Given the description of an element on the screen output the (x, y) to click on. 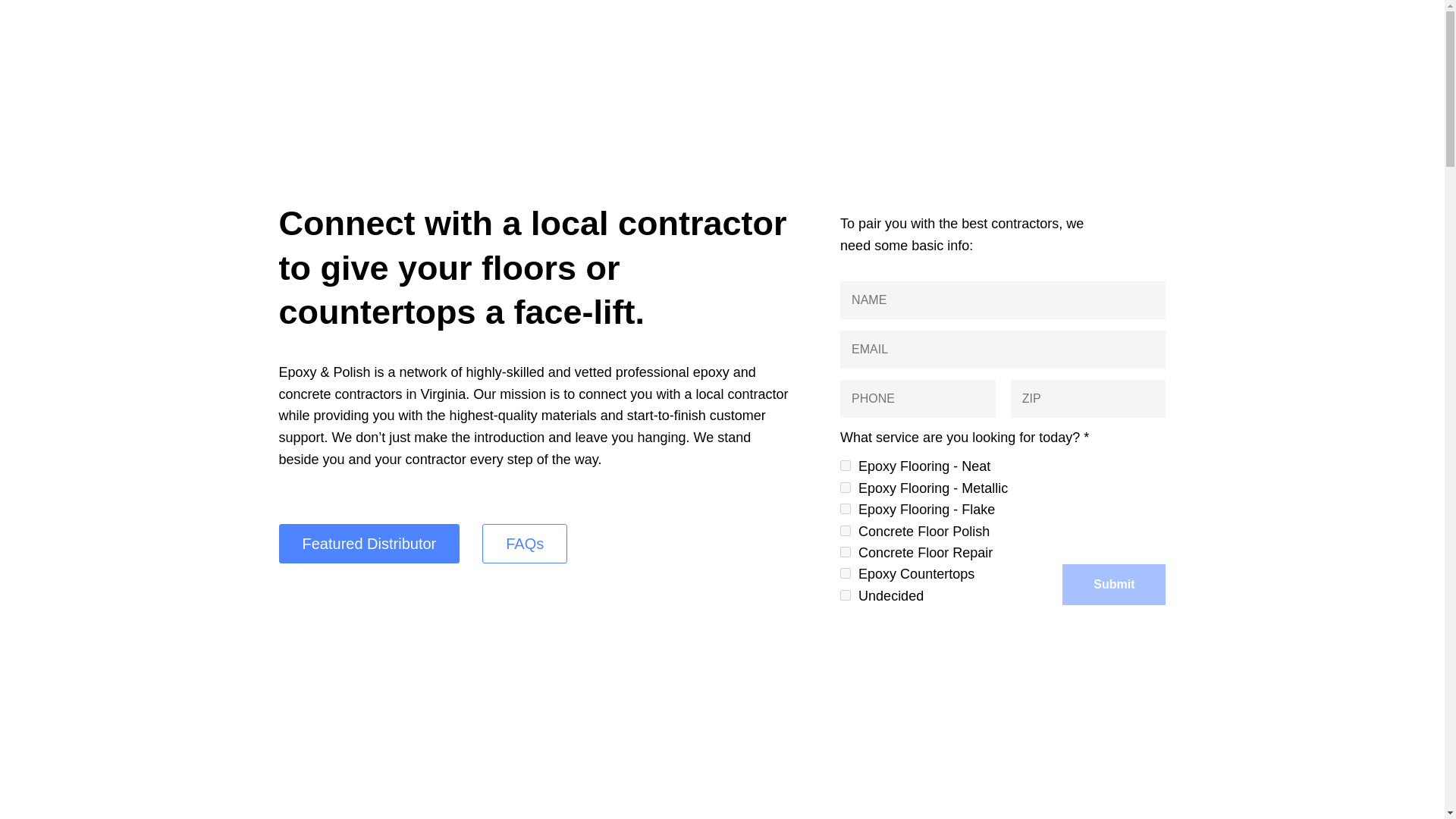
Undecided (845, 594)
Concrete Floor Polish (845, 530)
FAQs (524, 543)
Epoxy Flooring - Flake (845, 508)
Epoxy Countertops (845, 573)
Epoxy Flooring - Metallic (845, 487)
Concrete Floor Repair (845, 552)
Epoxy Flooring - Neat (845, 465)
Featured Distributor (369, 543)
Submit (1114, 584)
